Given the description of an element on the screen output the (x, y) to click on. 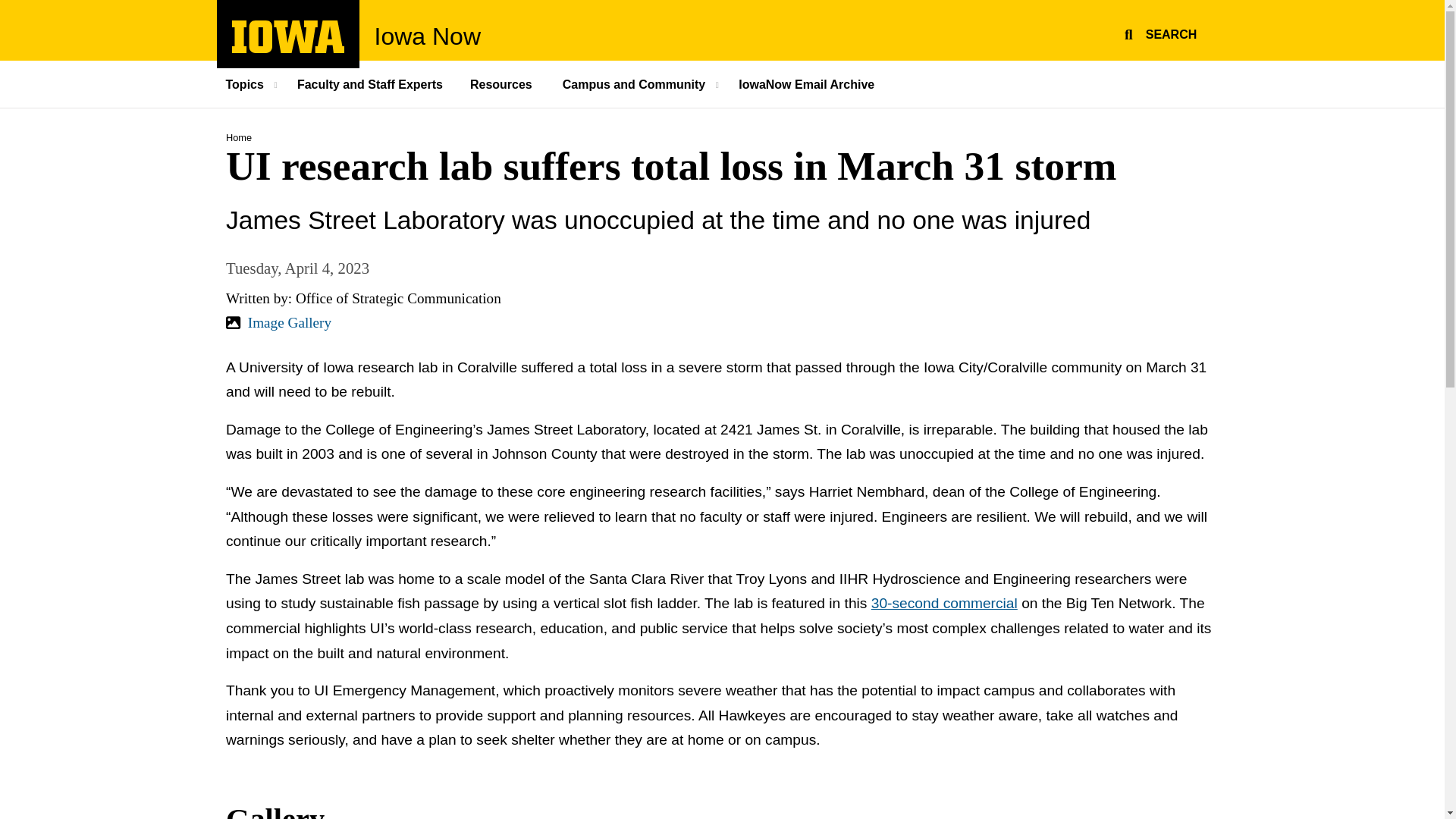
Skip to main content (7, 7)
IowaNow Email Archive (806, 83)
Home (238, 137)
Iowa Now (427, 36)
SEARCH (1157, 32)
Faculty and Staff Experts (370, 83)
Resources (502, 83)
Image Gallery (288, 322)
University of Iowa (288, 48)
30-second commercial (288, 36)
